Given the description of an element on the screen output the (x, y) to click on. 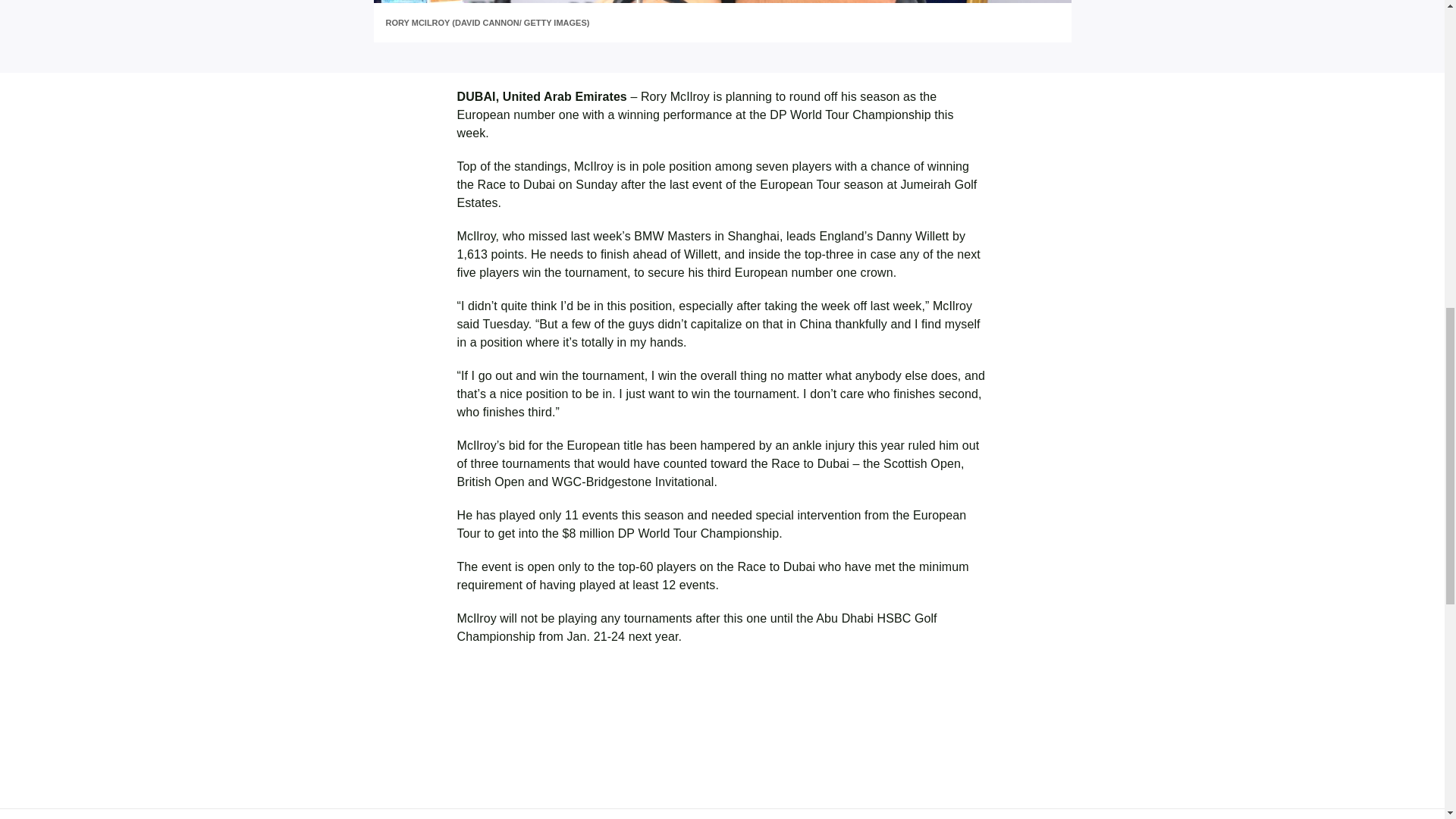
3rd party ad content (721, 751)
